Given the description of an element on the screen output the (x, y) to click on. 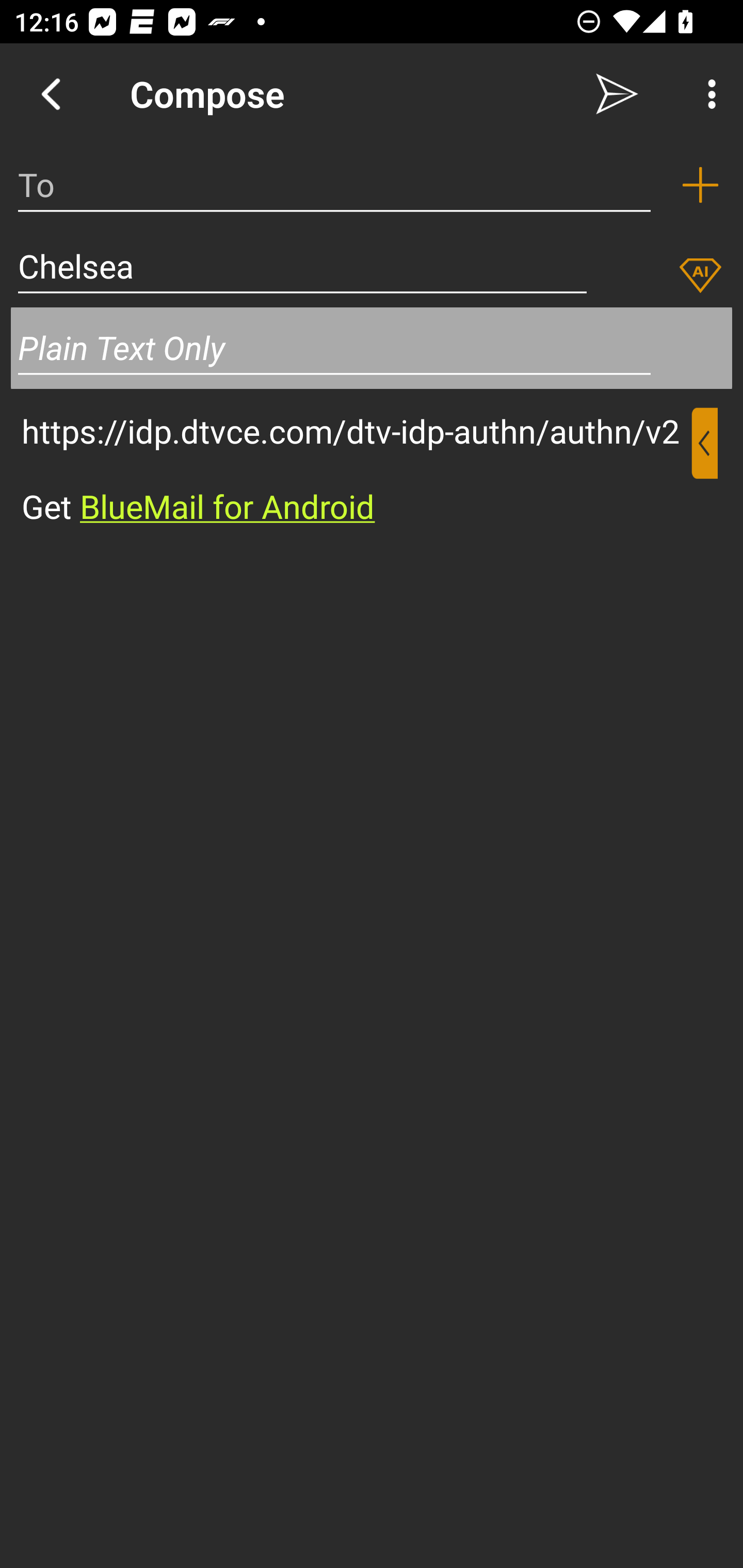
Navigate up (50, 93)
Send (616, 93)
More Options (706, 93)
To (334, 184)
Add recipient (To) (699, 184)
Chelsea (302, 266)
Plain Text Only (371, 347)
